Given the description of an element on the screen output the (x, y) to click on. 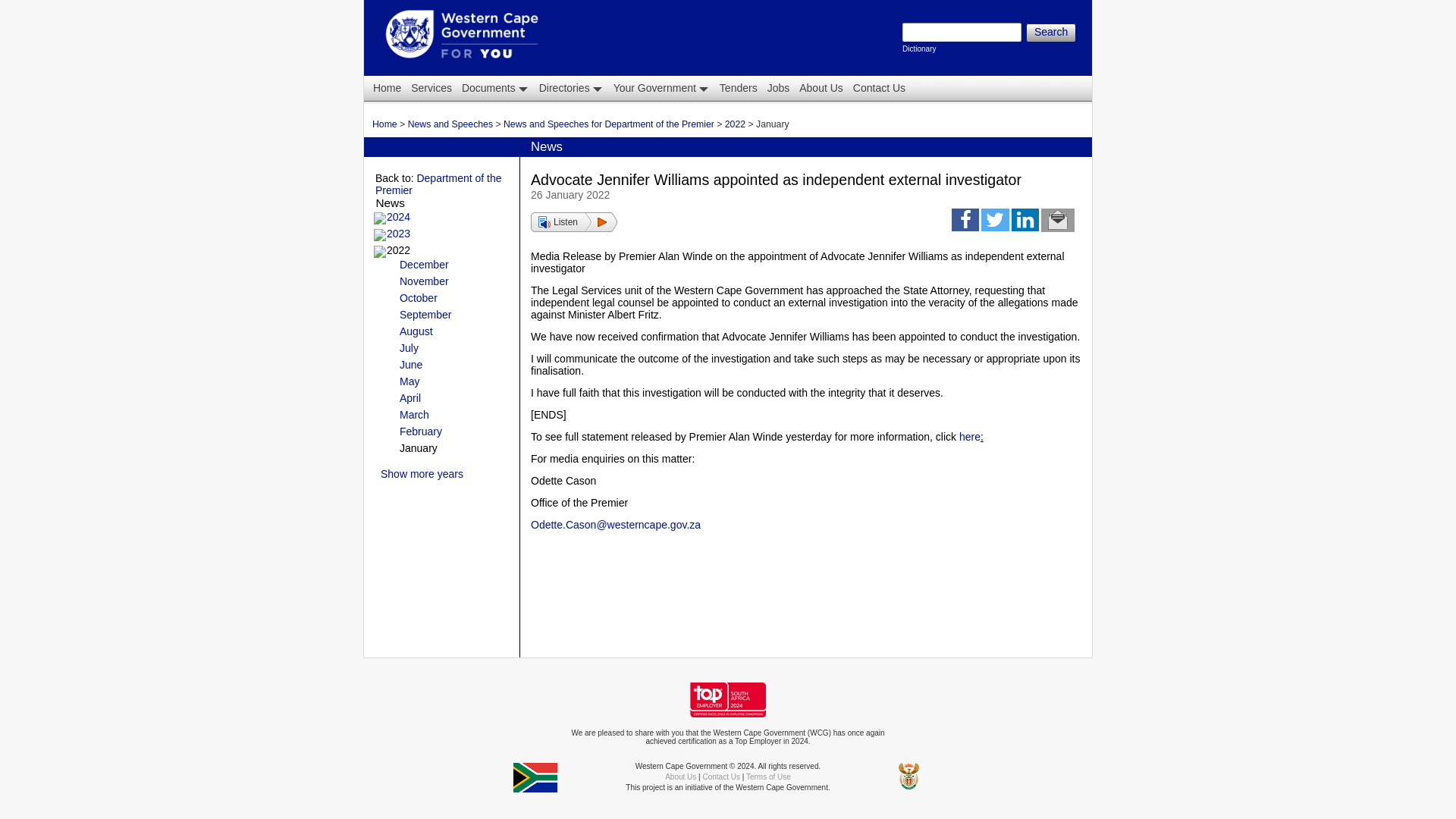
Department of the Premier (438, 183)
Listen to this page using ReadSpeaker (574, 221)
Share on Twitter (995, 223)
Jobs (493, 88)
2024 (777, 88)
About Us (398, 216)
Home (820, 88)
News and Speeches for Department of the Premier (384, 123)
Enter the terms you wish to search for. (608, 123)
Tenders (660, 88)
Share on Linkedin (962, 31)
Search (737, 88)
Contact Us (1025, 223)
